Given the description of an element on the screen output the (x, y) to click on. 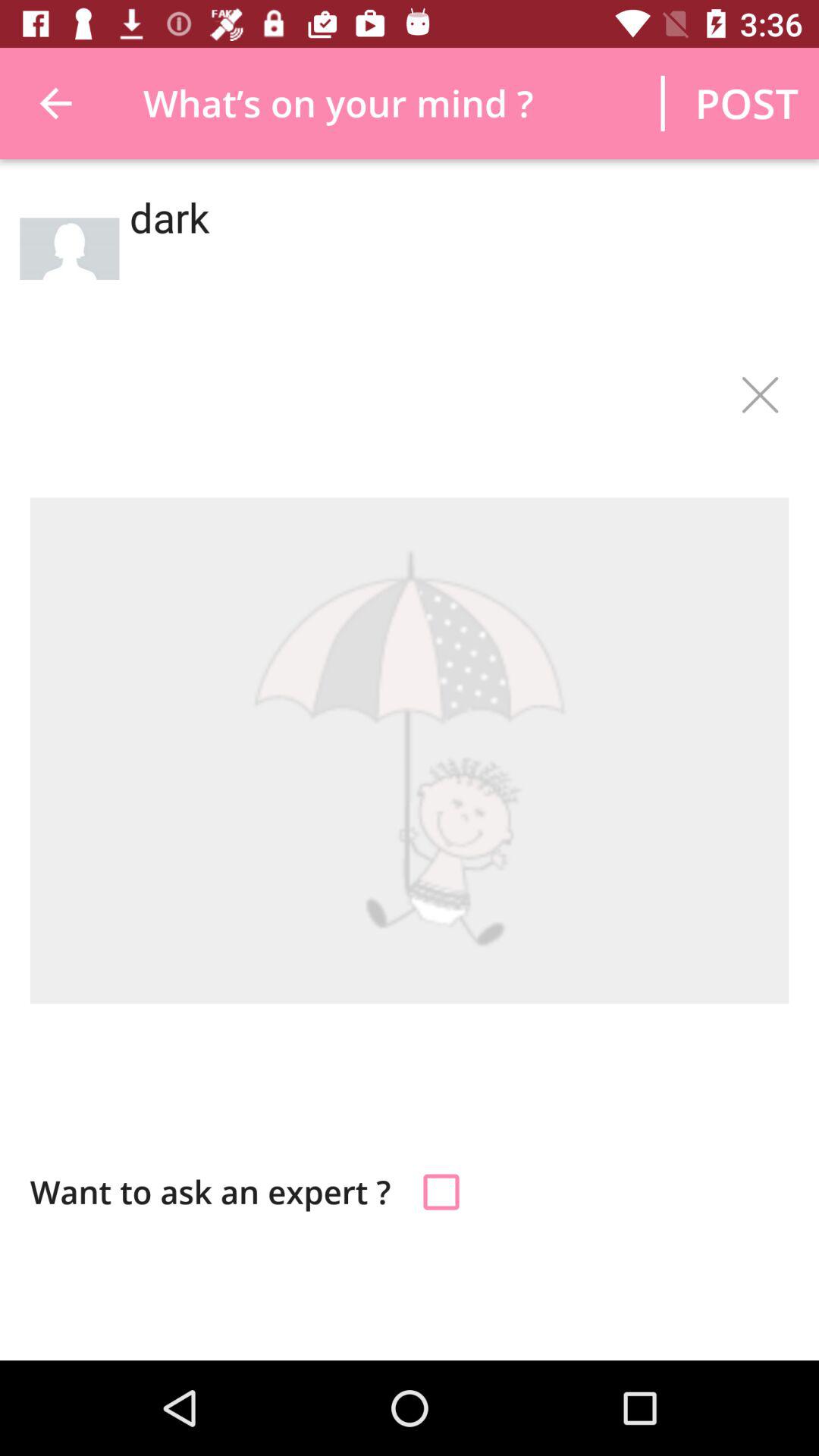
choose the icon to the right of the want to ask item (441, 1191)
